Given the description of an element on the screen output the (x, y) to click on. 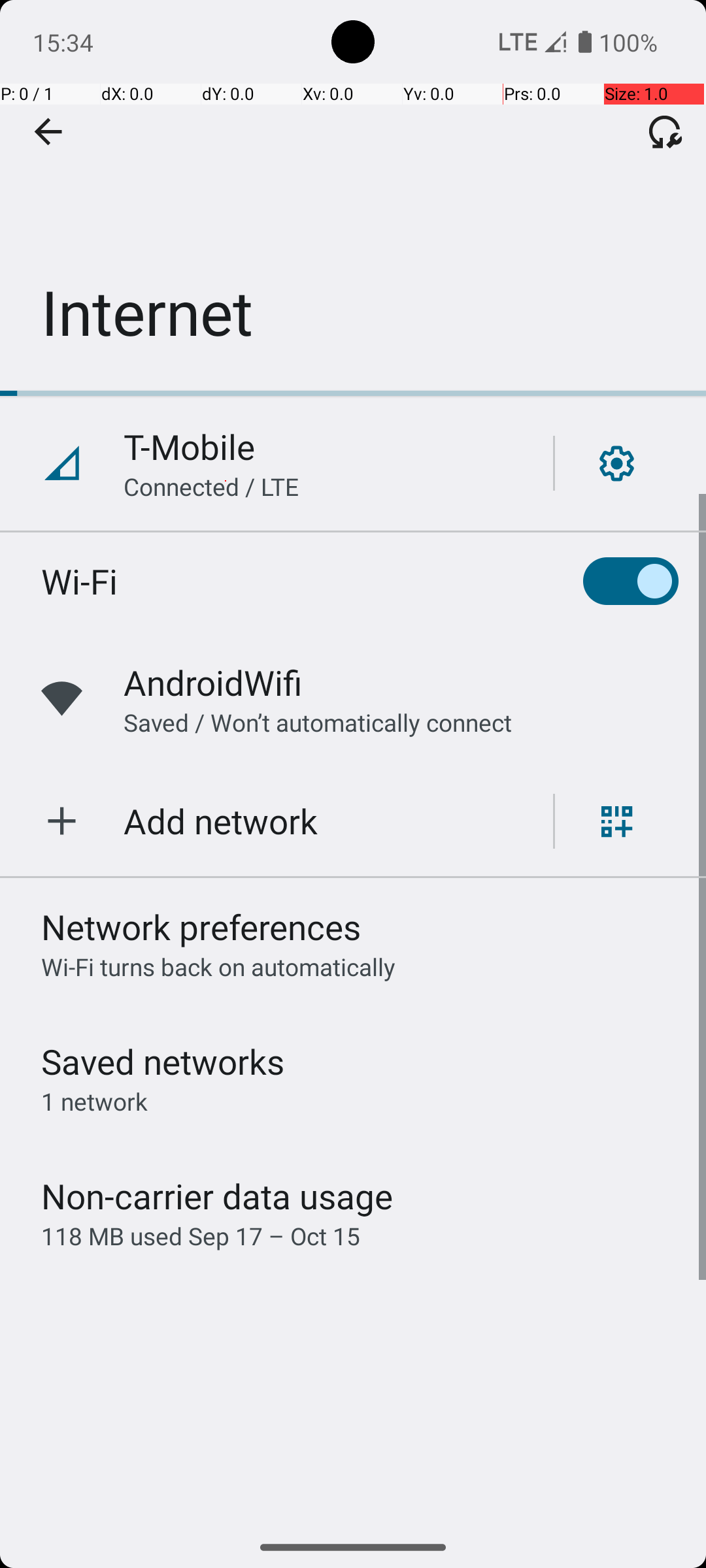
Fix connectivity Element type: android.widget.TextView (664, 131)
AndroidWifi,Saved / Won’t automatically connect,Wifi signal full.,Open network Element type: android.widget.LinearLayout (353, 698)
Connected / LTE Element type: android.widget.TextView (211, 486)
Wi-Fi Element type: android.widget.TextView (79, 580)
AndroidWifi Element type: android.widget.TextView (212, 682)
Saved / Won’t automatically connect Element type: android.widget.TextView (317, 721)
Add network Element type: android.widget.TextView (220, 820)
Scan QR code Element type: android.widget.ImageButton (616, 821)
Network preferences Element type: android.widget.TextView (201, 926)
Wi‑Fi turns back on automatically Element type: android.widget.TextView (218, 966)
Saved networks Element type: android.widget.TextView (163, 1061)
1 network Element type: android.widget.TextView (94, 1100)
Non-carrier data usage Element type: android.widget.TextView (216, 1195)
118 MB used Sep 17 – Oct 15 Element type: android.widget.TextView (200, 1235)
